Given the description of an element on the screen output the (x, y) to click on. 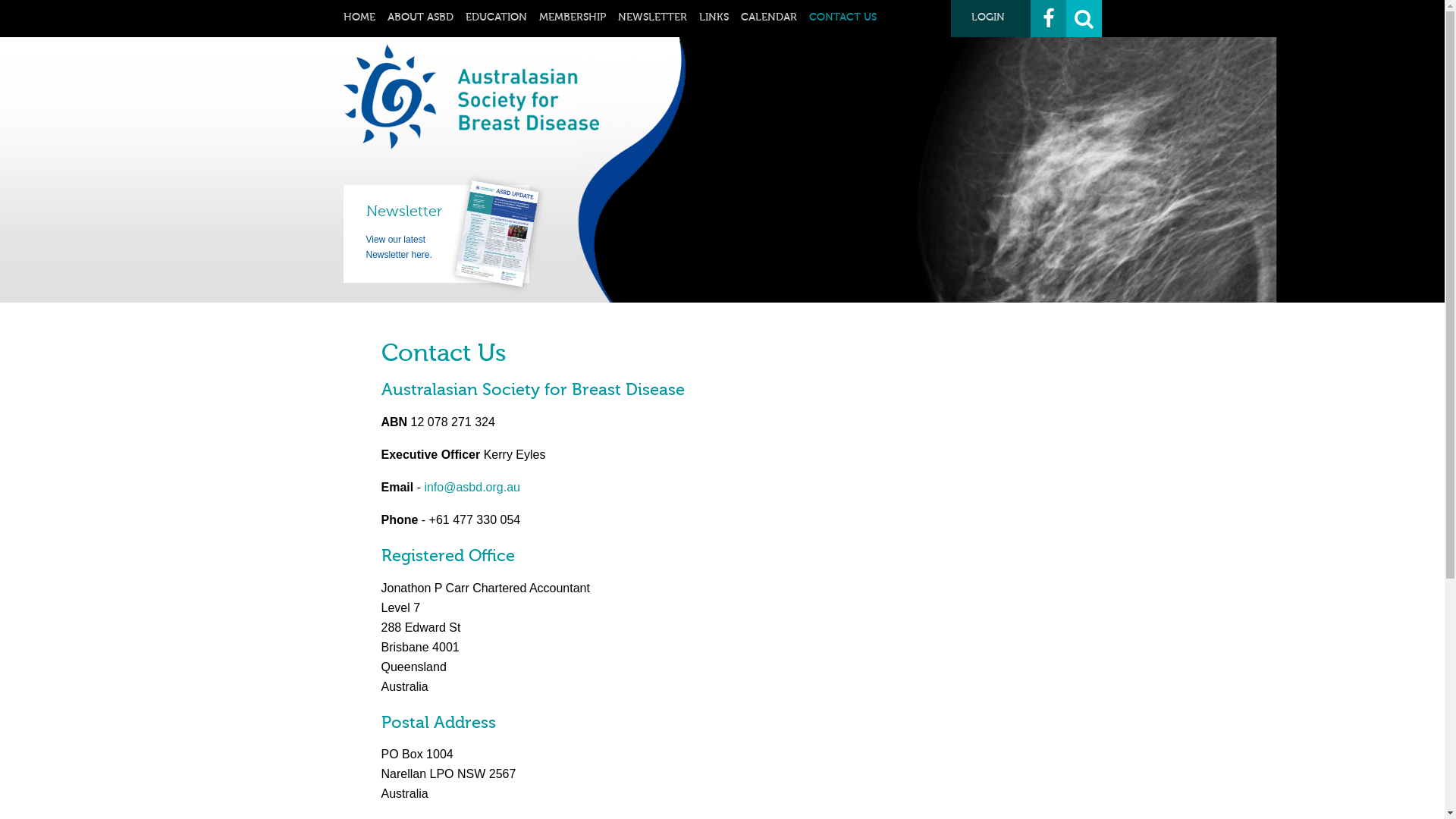
CALENDAR Element type: text (768, 17)
info@asbd.org.au Element type: text (471, 486)
LOGIN Element type: text (990, 18)
HOME Element type: text (358, 17)
CONTACT US Element type: text (841, 17)
MEMBERSHIP Element type: text (571, 17)
ABOUT ASBD Element type: text (419, 17)
NEWSLETTER Element type: text (651, 17)
View our latest Newsletter here. Element type: text (398, 247)
EDUCATION Element type: text (496, 17)
LINKS Element type: text (713, 17)
